Given the description of an element on the screen output the (x, y) to click on. 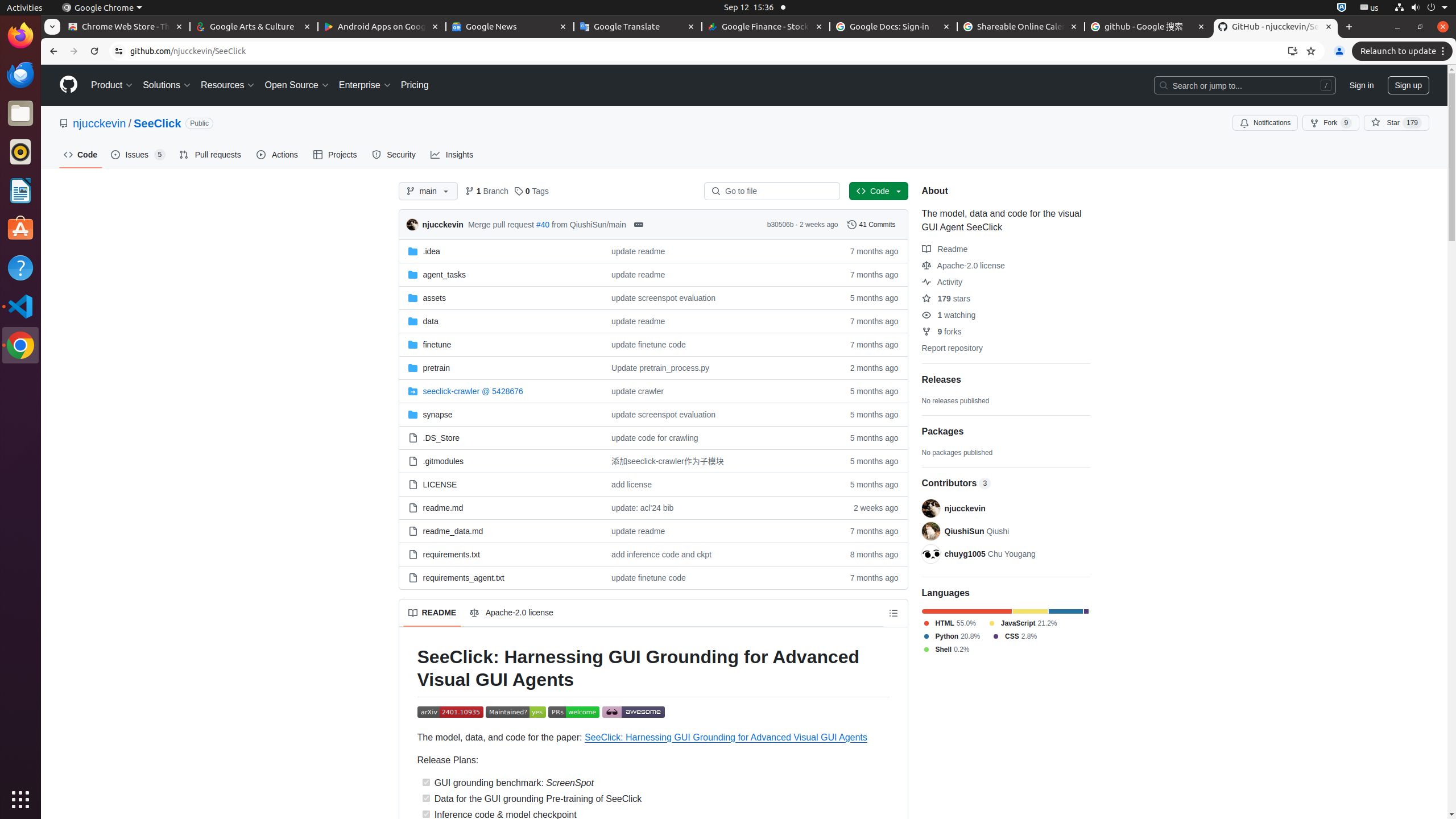
Update pretrain_process.py Element type: table-cell (716, 367)
Visual Studio Code Element type: push-button (20, 306)
Back Element type: push-button (51, 50)
Update pretrain_process.py Element type: link (660, 367)
from QiushiSun/main Element type: link (588, 224)
